Given the description of an element on the screen output the (x, y) to click on. 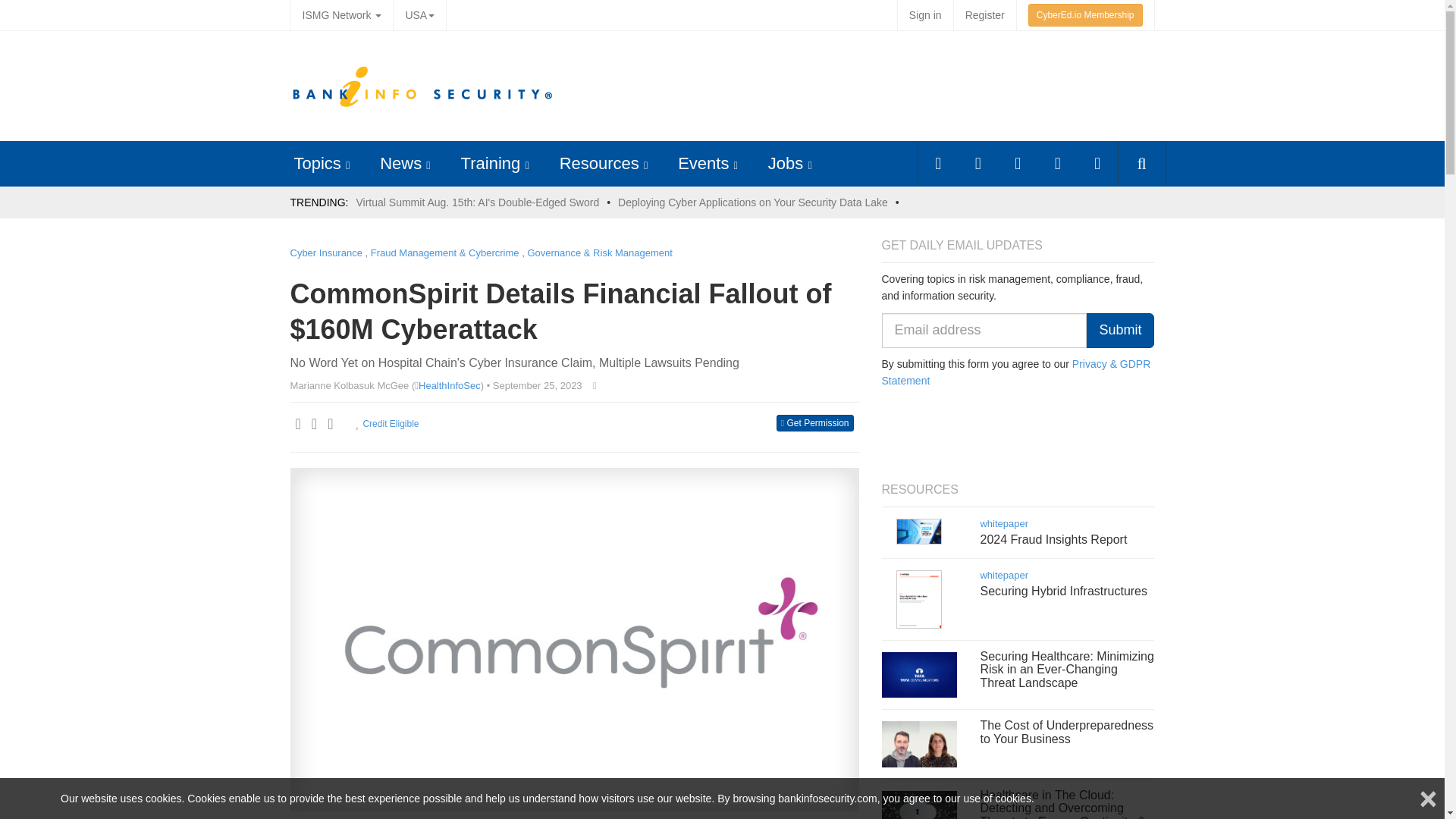
Sign in (925, 15)
USA (418, 15)
Topics (317, 162)
Register (984, 15)
CyberEd.io Membership (1084, 15)
ISMG Network (341, 15)
